Given the description of an element on the screen output the (x, y) to click on. 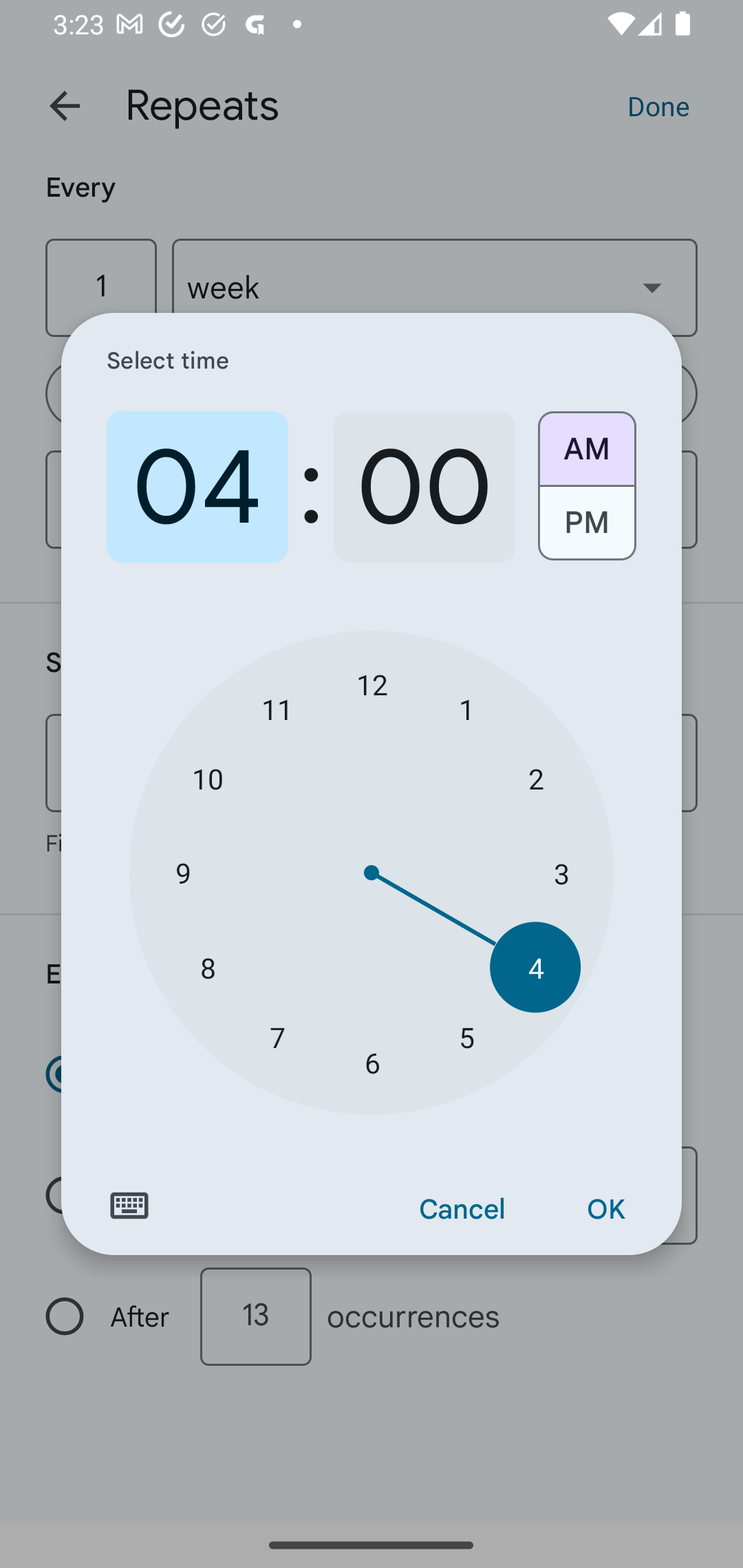
AM (586, 441)
04 4 o'clock (197, 486)
00 0 minutes (424, 486)
PM (586, 529)
12 12 o'clock (371, 683)
11 11 o'clock (276, 708)
1 1 o'clock (466, 708)
10 10 o'clock (207, 778)
2 2 o'clock (535, 778)
9 9 o'clock (182, 872)
3 3 o'clock (561, 872)
8 8 o'clock (207, 966)
4 4 o'clock (535, 966)
7 7 o'clock (276, 1035)
5 5 o'clock (466, 1035)
6 6 o'clock (371, 1062)
Switch to text input mode for the time input. (128, 1205)
Cancel (462, 1209)
OK (605, 1209)
